Given the description of an element on the screen output the (x, y) to click on. 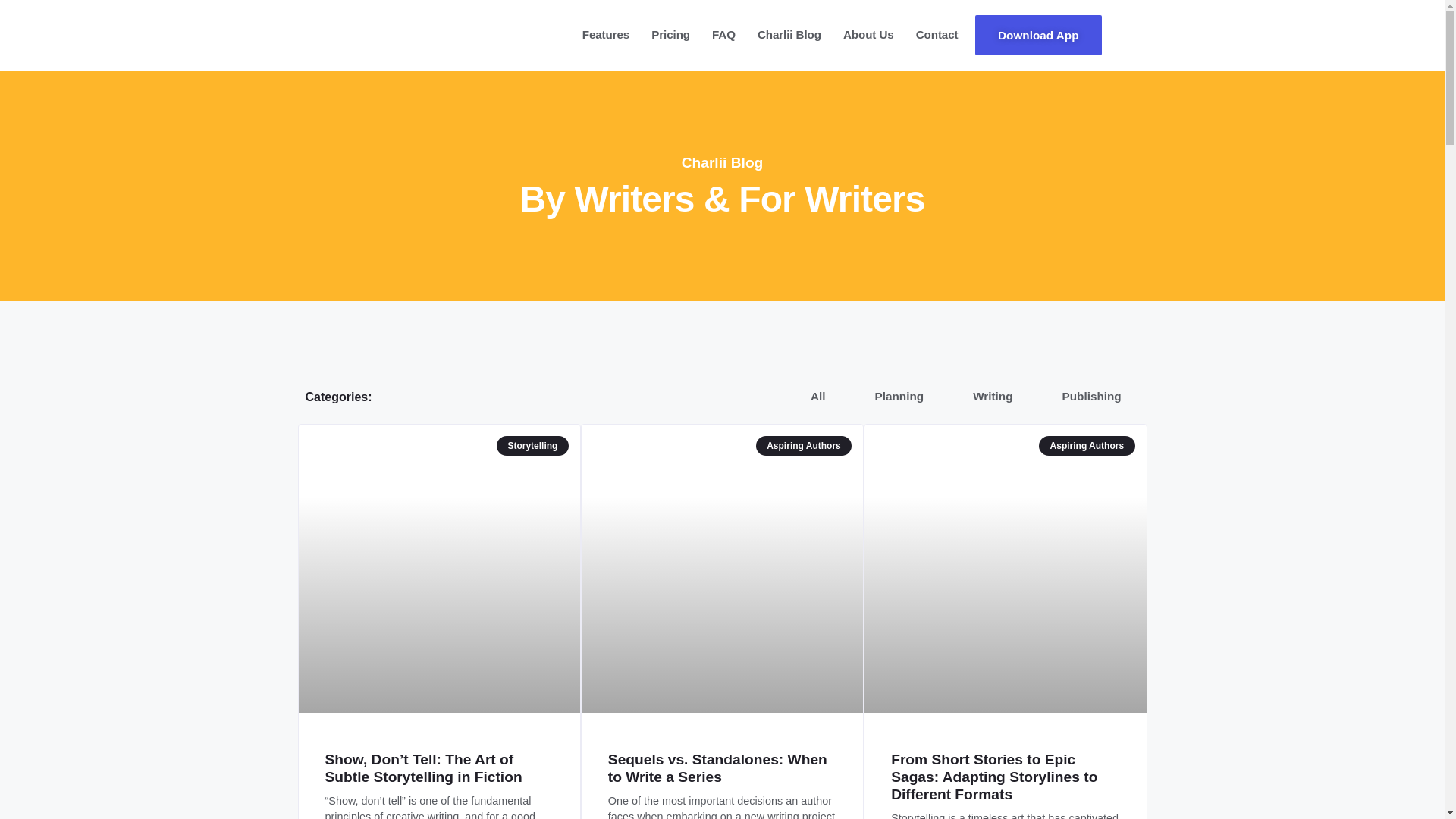
Charlii Blog (788, 34)
Planning (899, 395)
FAQ (723, 34)
Features (606, 34)
About Us (868, 34)
All (817, 395)
Contact (937, 34)
Download App (1038, 35)
Writing (992, 395)
Publishing (1091, 395)
Pricing (670, 34)
